Given the description of an element on the screen output the (x, y) to click on. 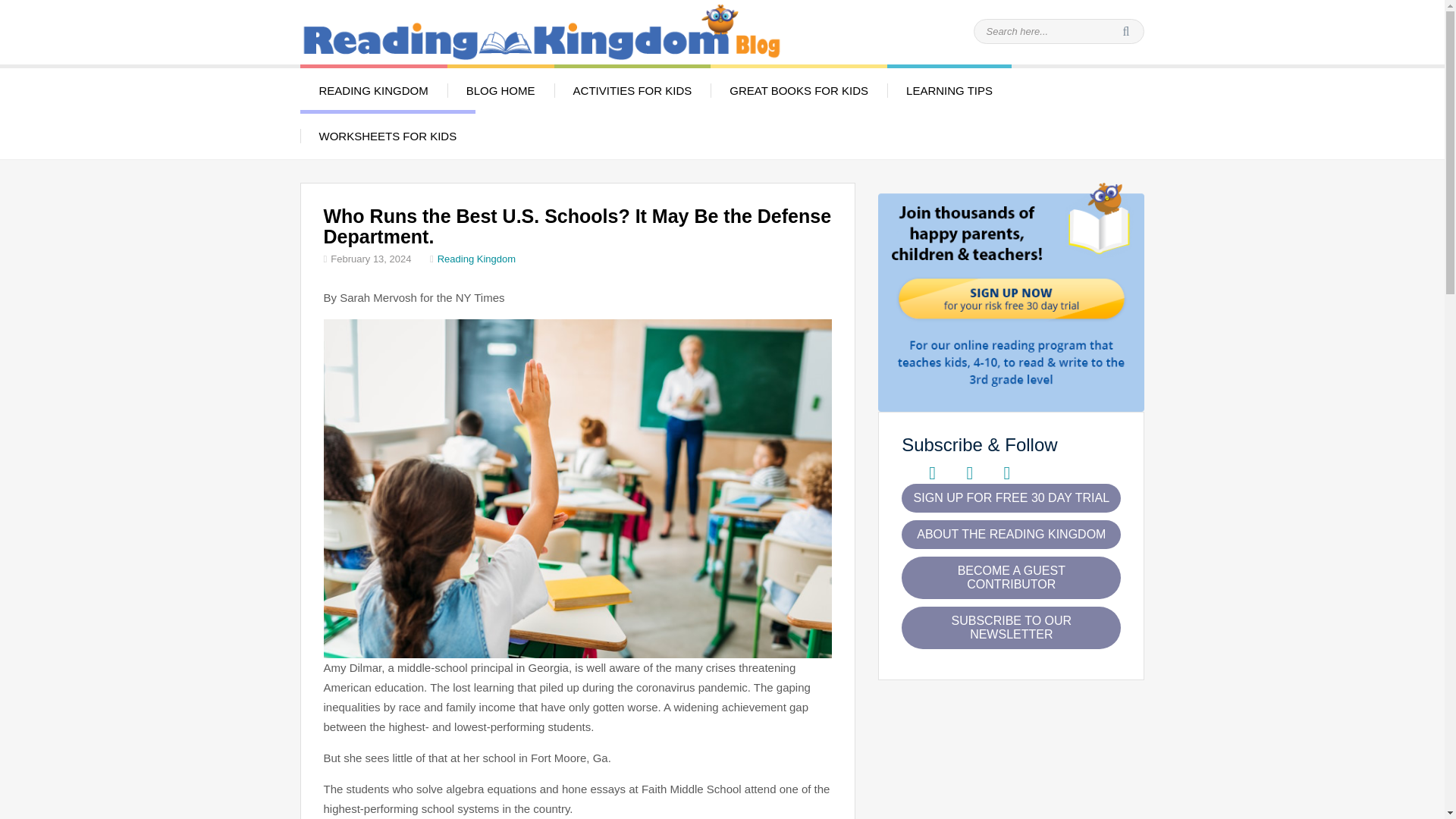
ABOUT THE READING KINGDOM (1011, 534)
GREAT BOOKS FOR KIDS (798, 88)
SIGN UP FOR FREE 30 DAY TRIAL (1011, 498)
LEARNING TIPS (948, 88)
WORKSHEETS FOR KIDS (387, 133)
ACTIVITIES FOR KIDS (632, 88)
READING KINGDOM (372, 88)
SUBSCRIBE TO OUR NEWSLETTER (1011, 627)
BLOG HOME (500, 88)
